Given the description of an element on the screen output the (x, y) to click on. 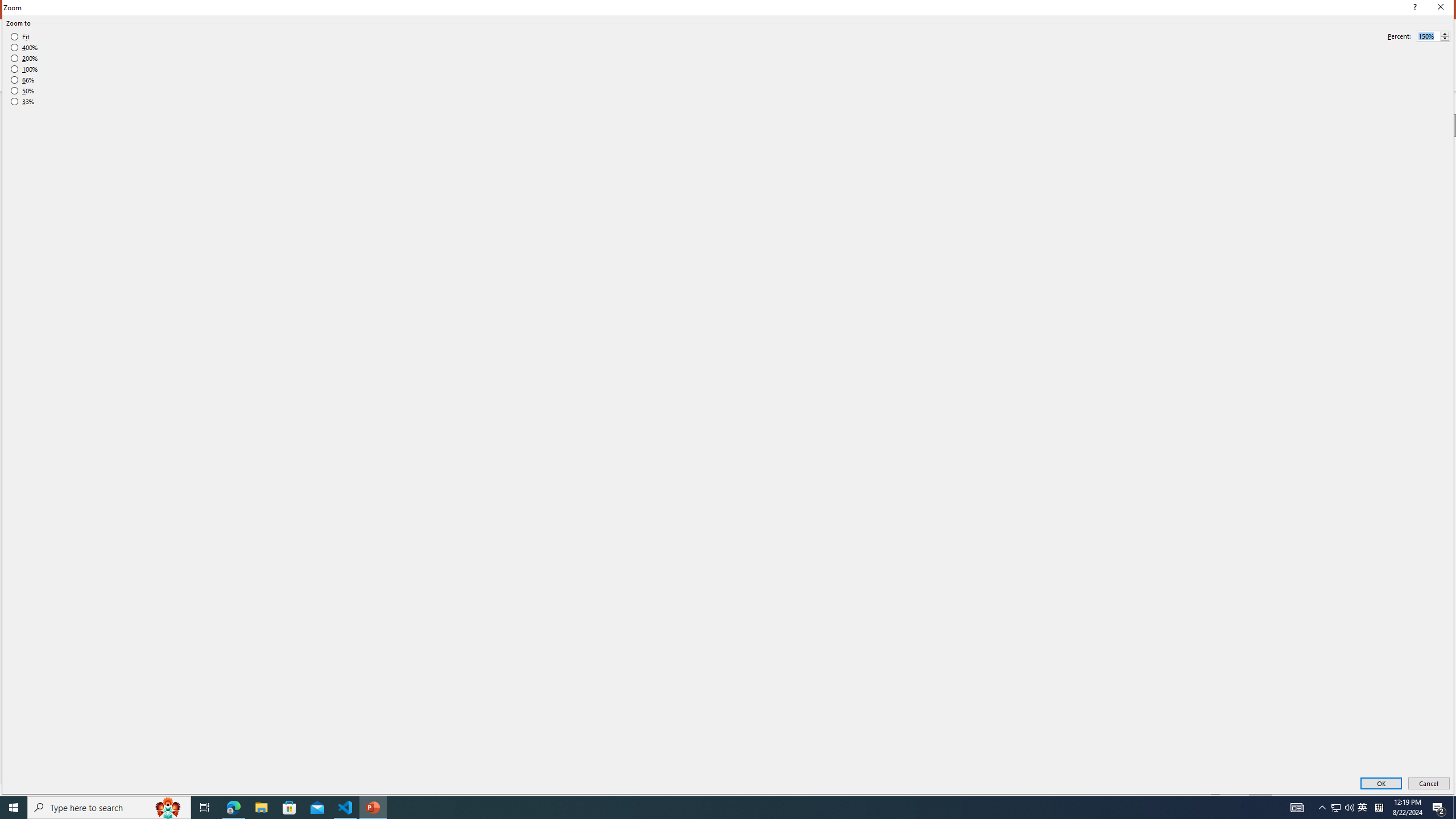
OK (1380, 783)
Percent (1427, 36)
More (1444, 33)
66% (22, 79)
Percent (1433, 36)
50% (22, 90)
200% (24, 58)
Fit (20, 36)
Context help (1413, 8)
100% (24, 68)
400% (24, 47)
Cancel (1428, 783)
Less (1444, 38)
33% (22, 101)
